Given the description of an element on the screen output the (x, y) to click on. 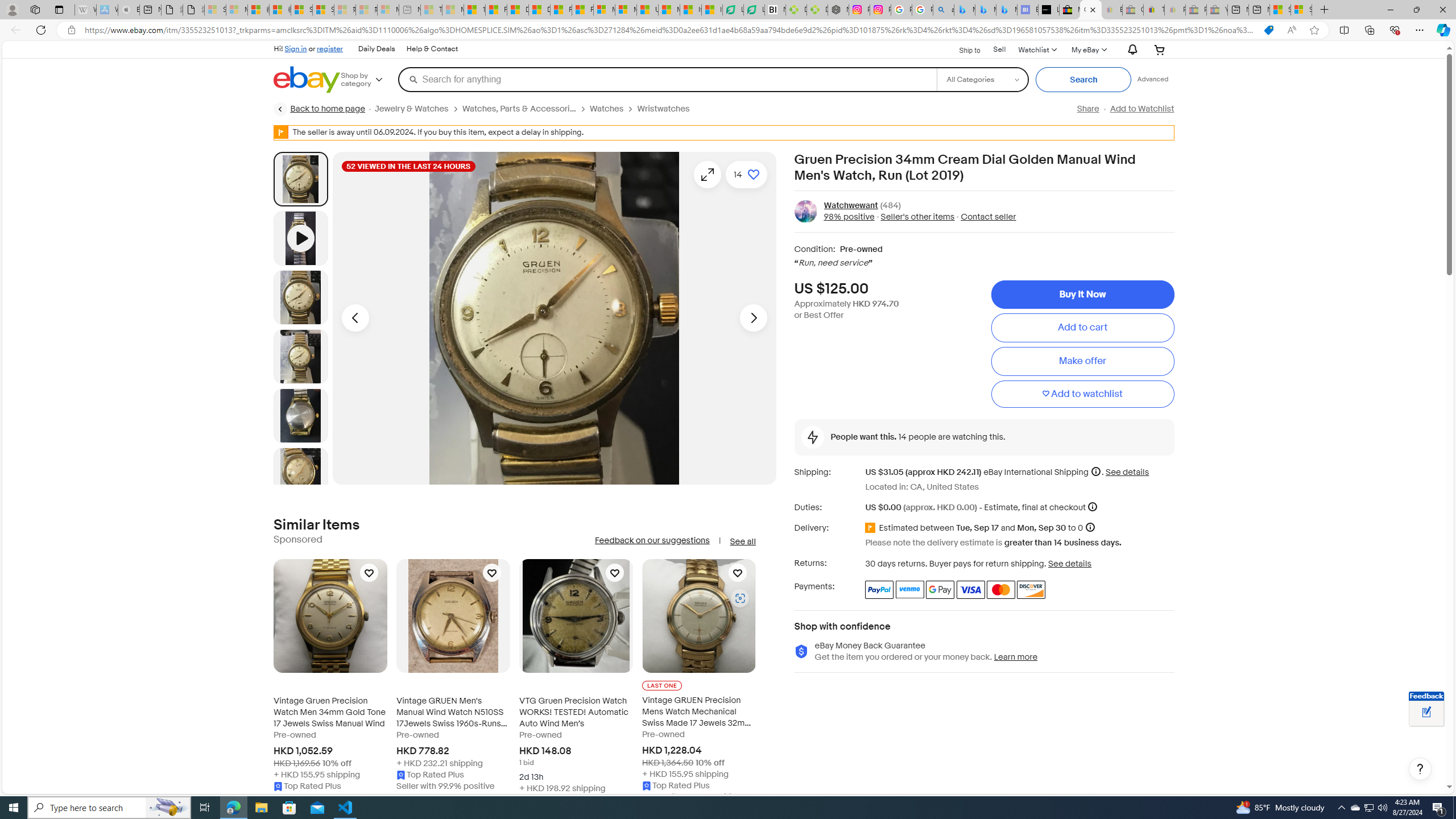
Wristwatches (667, 108)
Search for anything (666, 78)
Picture 2 of 13 (300, 297)
Next image - Item images thumbnails (753, 318)
eBay Home (306, 79)
(484) (890, 205)
Picture 5 of 13 (300, 474)
Picture 5 of 13 (300, 474)
My eBay (1088, 49)
AutomationID: gh-eb-Alerts (1131, 49)
